Given the description of an element on the screen output the (x, y) to click on. 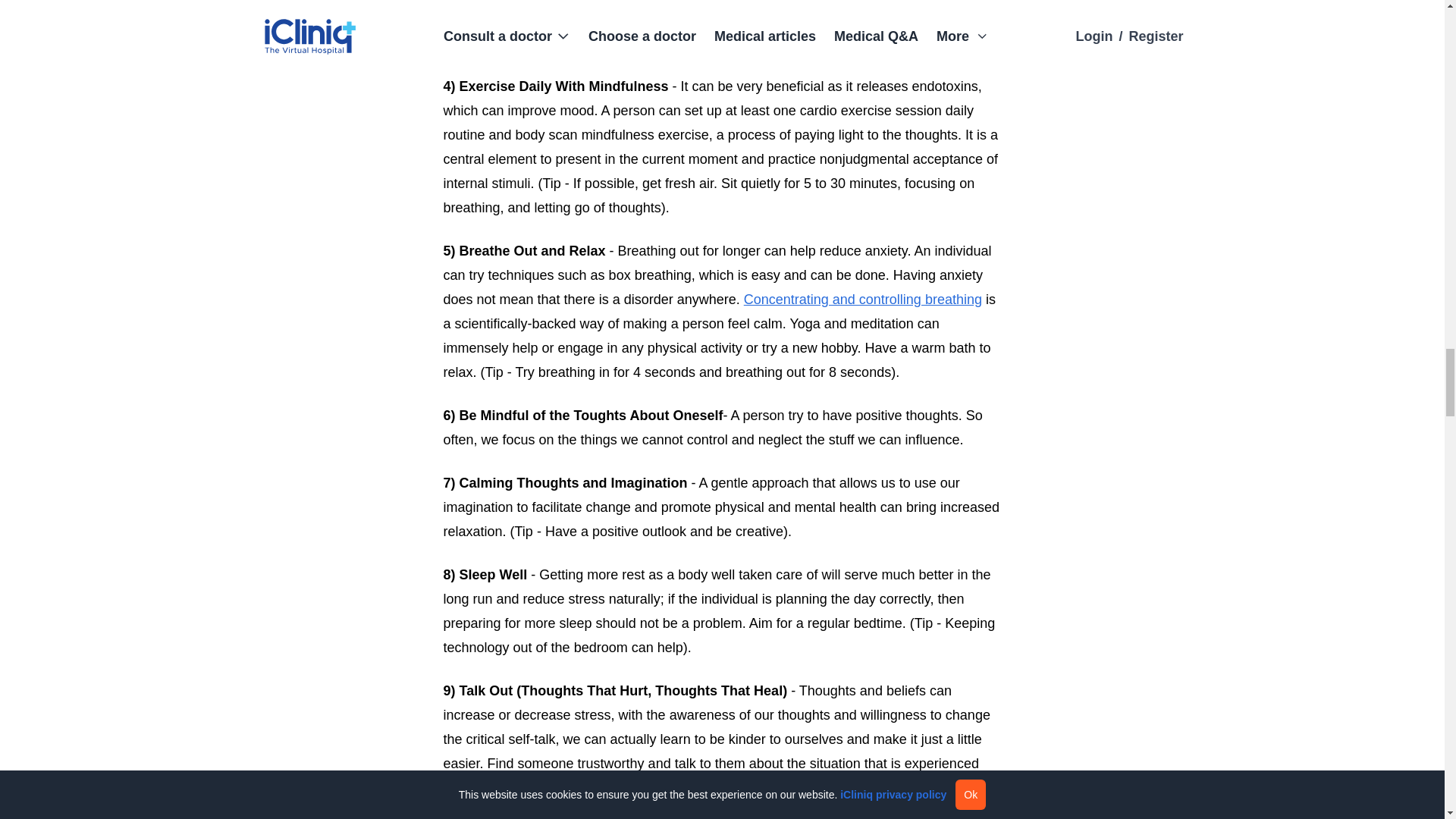
concentrating and controlling breathing (862, 299)
